Given the description of an element on the screen output the (x, y) to click on. 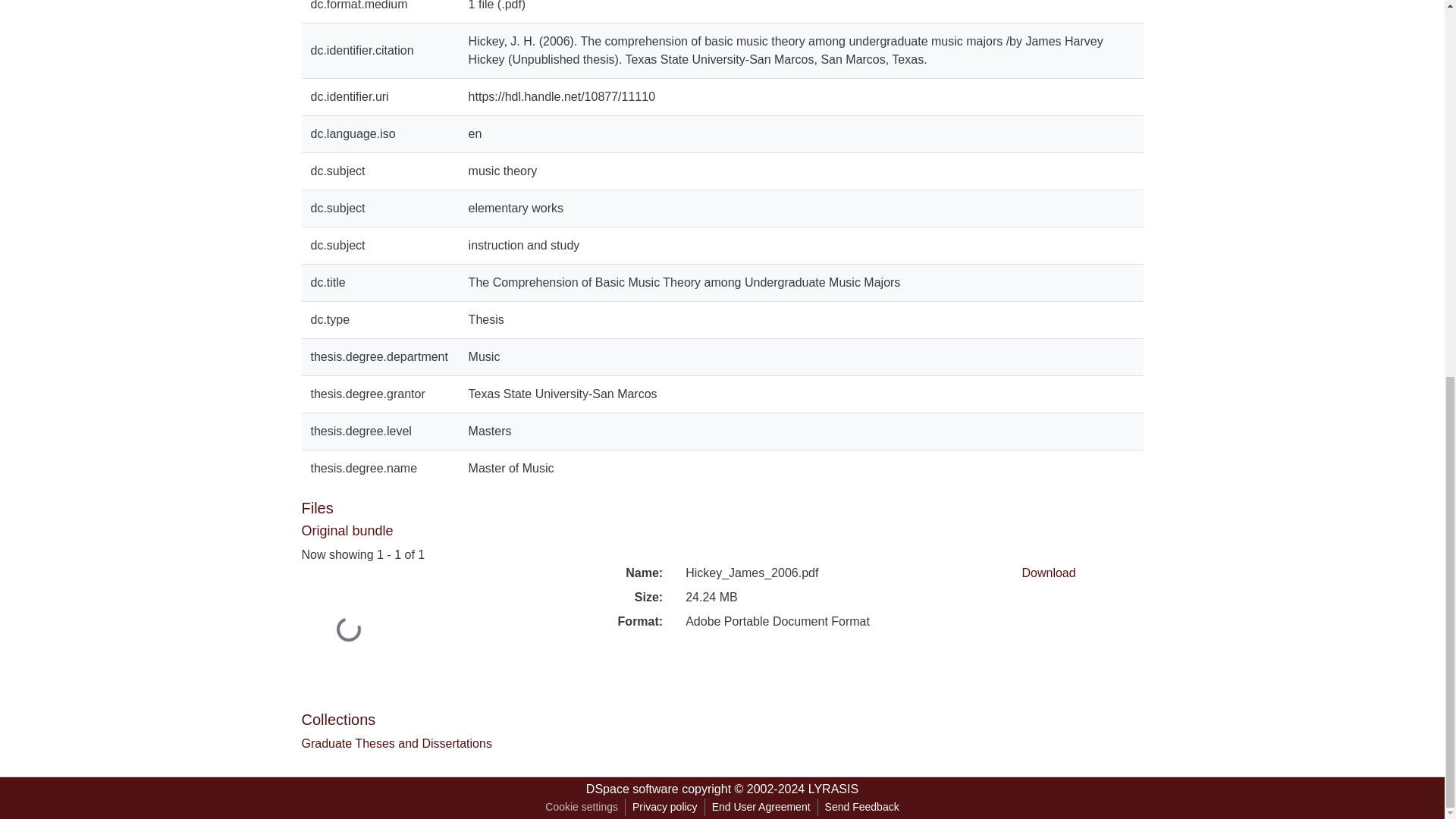
Graduate Theses and Dissertations (396, 743)
End User Agreement (760, 806)
LYRASIS (833, 788)
Cookie settings (581, 806)
Download (1048, 572)
Send Feedback (861, 806)
Privacy policy (665, 806)
DSpace software (632, 788)
